Given the description of an element on the screen output the (x, y) to click on. 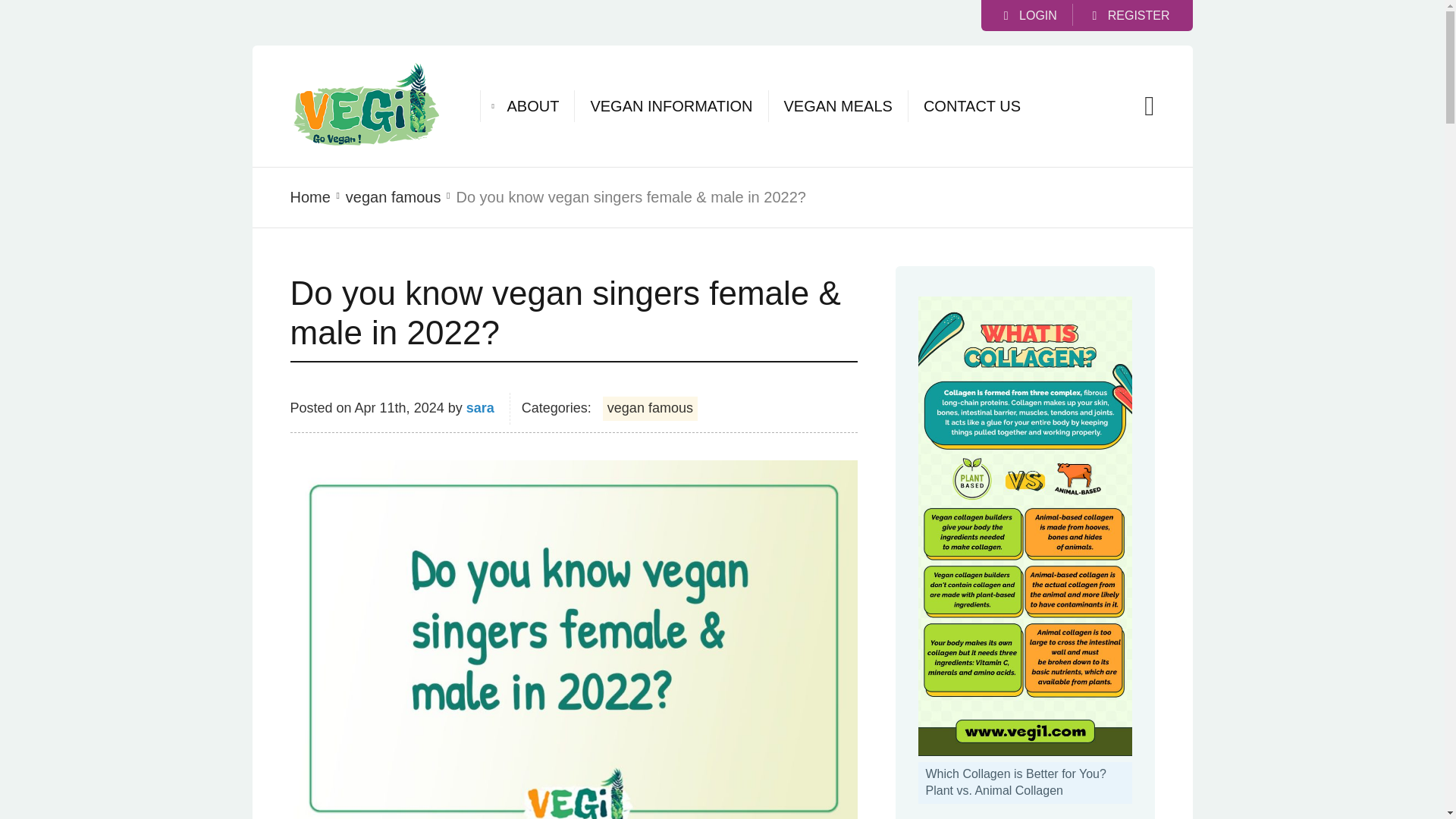
sara (480, 407)
VEGAN MEALS (838, 106)
VEGAN INFORMATION (670, 106)
vegan famous (649, 408)
LOGIN (1030, 15)
Home (309, 197)
View all posts in vegan famous (393, 197)
CONTACT US (971, 106)
vegan famous (393, 197)
ABOUT (532, 106)
REGISTER (1130, 15)
